Given the description of an element on the screen output the (x, y) to click on. 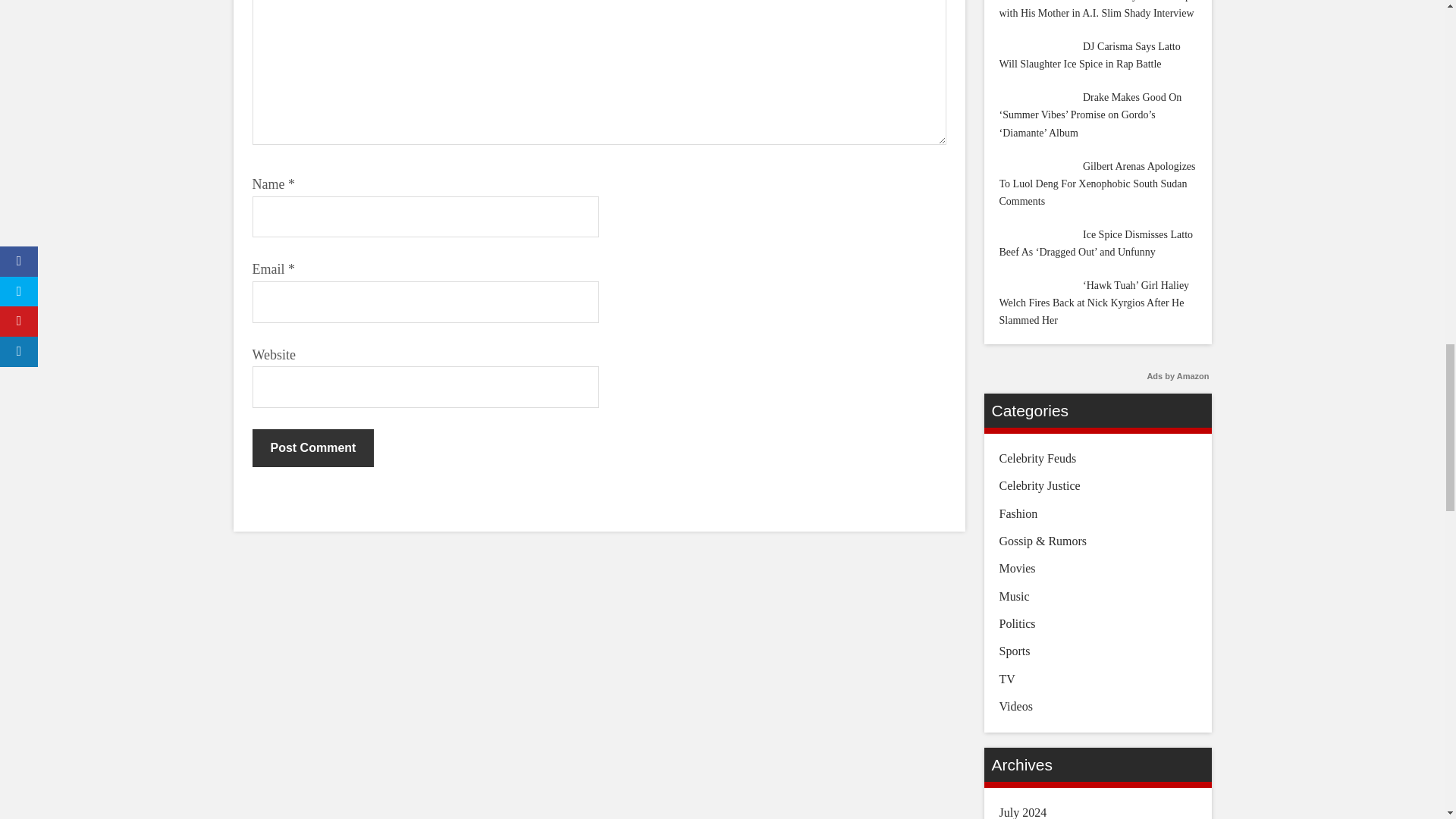
Post Comment (312, 447)
